Given the description of an element on the screen output the (x, y) to click on. 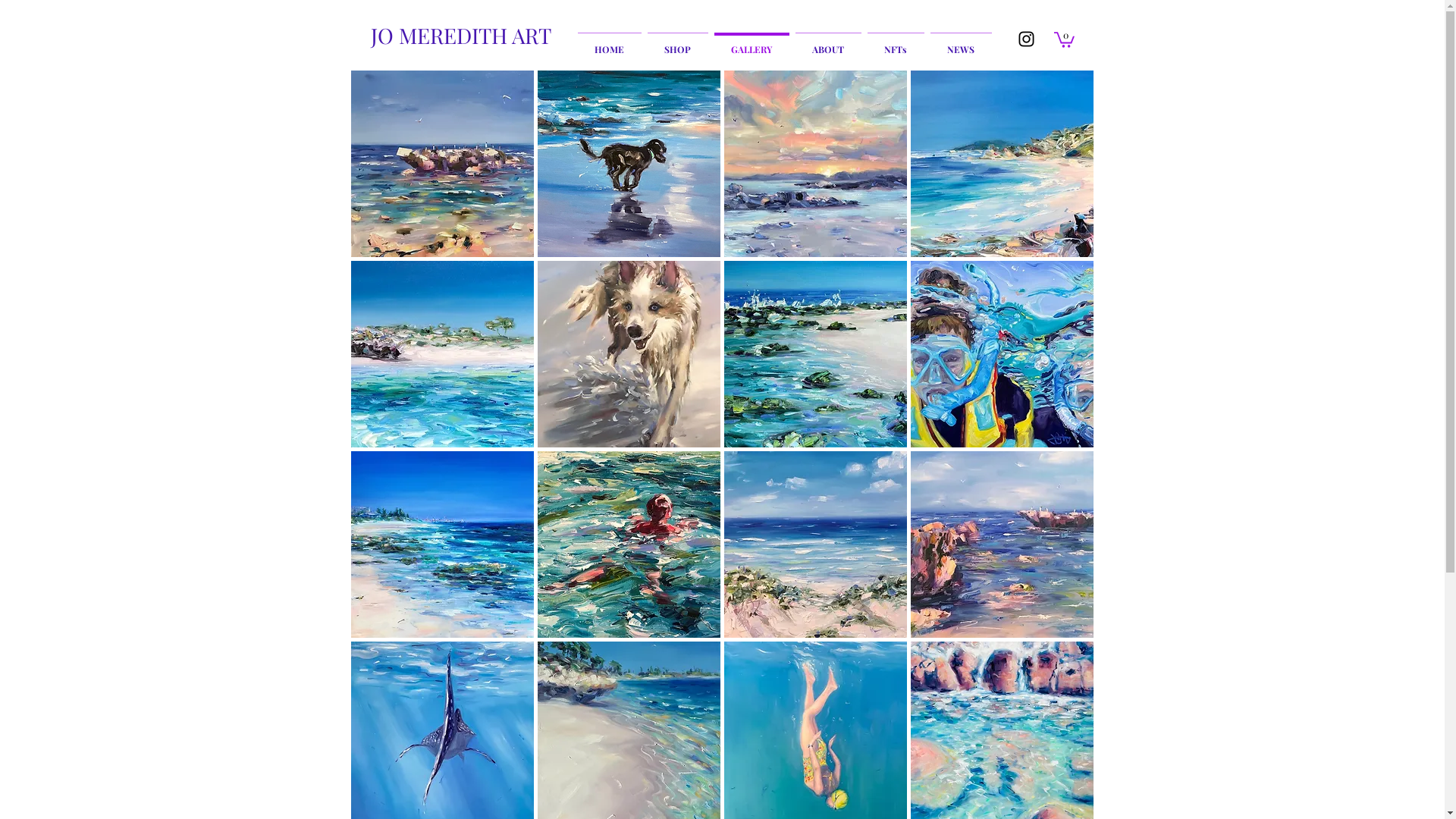
NEWS Element type: text (960, 42)
NFTs Element type: text (895, 42)
SHOP Element type: text (677, 42)
ABOUT Element type: text (827, 42)
JO MEREDITH ART Element type: text (461, 34)
0 Element type: text (1064, 38)
HOME Element type: text (609, 42)
GALLERY Element type: text (751, 42)
